Given the description of an element on the screen output the (x, y) to click on. 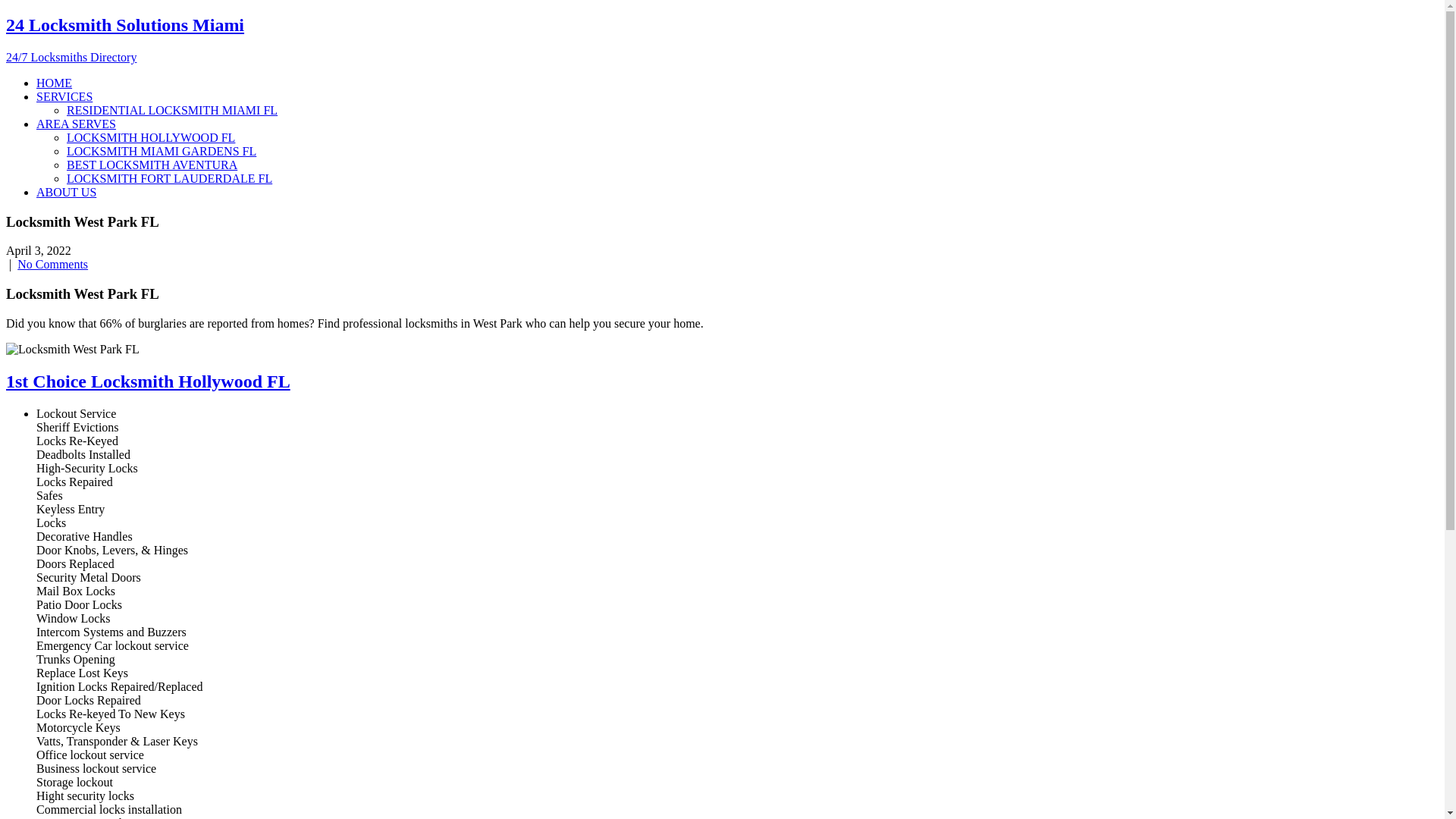
LOCKSMITH HOLLYWOOD FL Element type: text (150, 137)
ABOUT US Element type: text (66, 191)
LOCKSMITH FORT LAUDERDALE FL Element type: text (169, 178)
1st Choice Locksmith Hollywood FL Element type: text (148, 381)
SERVICES Element type: text (64, 96)
BEST LOCKSMITH AVENTURA Element type: text (151, 164)
HOME Element type: text (54, 82)
24 Locksmith Solutions Miami
24/7 Locksmiths Directory Element type: text (722, 39)
No Comments Element type: text (52, 263)
AREA SERVES Element type: text (76, 123)
RESIDENTIAL LOCKSMITH MIAMI FL Element type: text (171, 109)
LOCKSMITH MIAMI GARDENS FL Element type: text (161, 150)
